Given the description of an element on the screen output the (x, y) to click on. 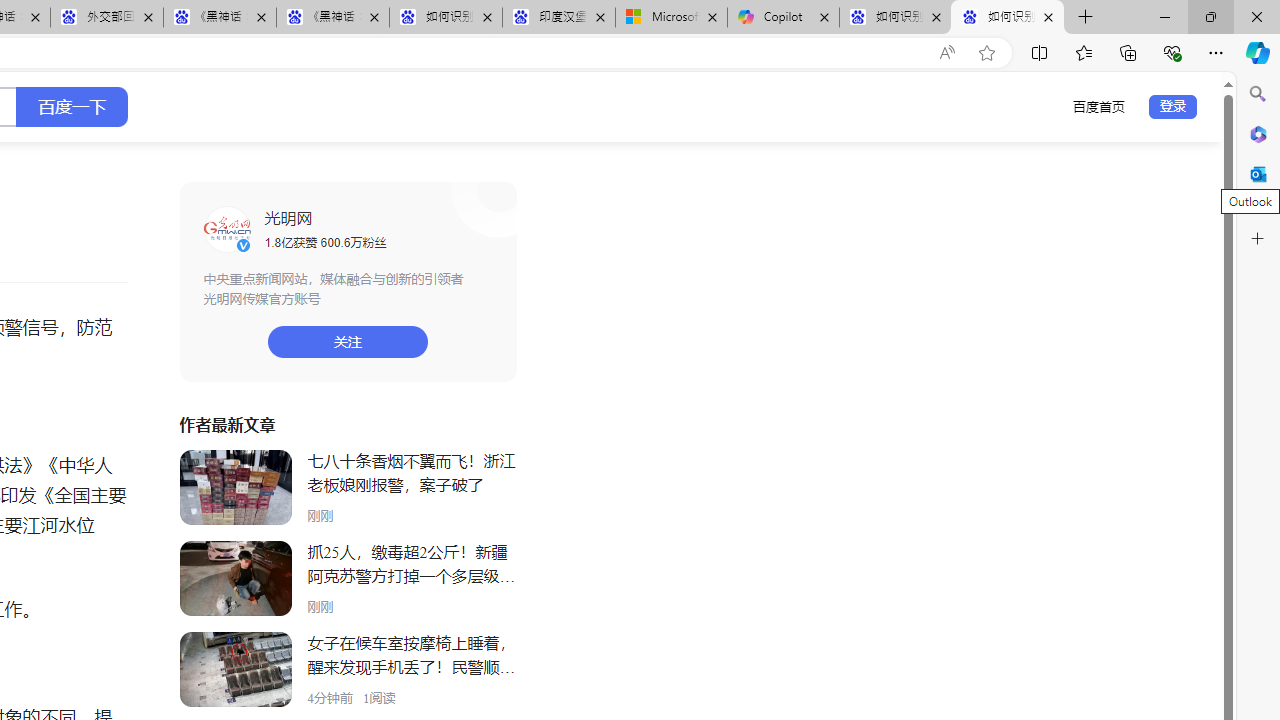
Outlook (1258, 174)
Class: _3aYo6 (235, 669)
